Given the description of an element on the screen output the (x, y) to click on. 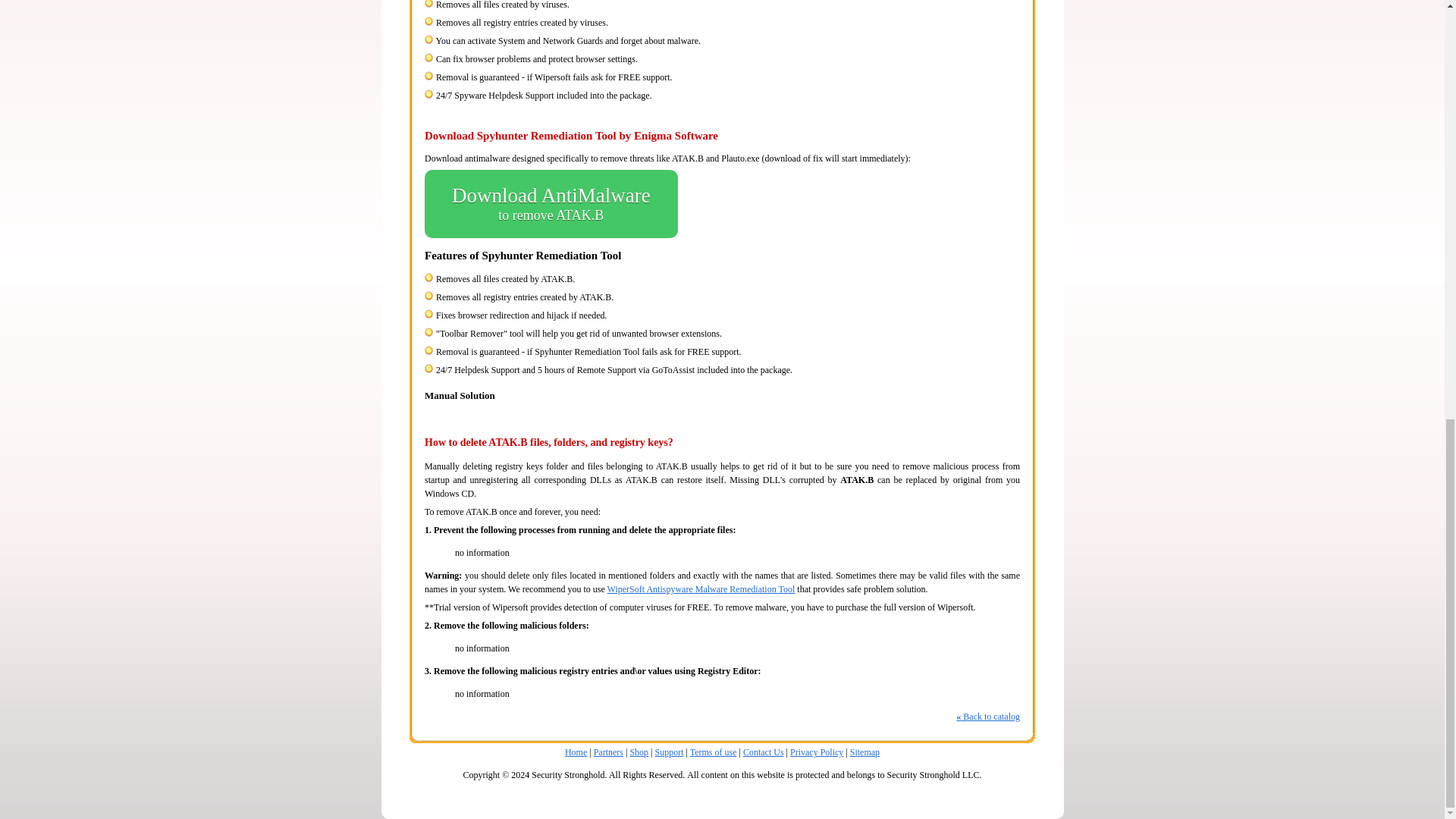
WiperSoft Antispyware Malware Remediation Tool (700, 588)
Terms of use (713, 751)
Partners (608, 751)
Shop (551, 203)
Home (637, 751)
Support (575, 751)
Contact Us (669, 751)
